Given the description of an element on the screen output the (x, y) to click on. 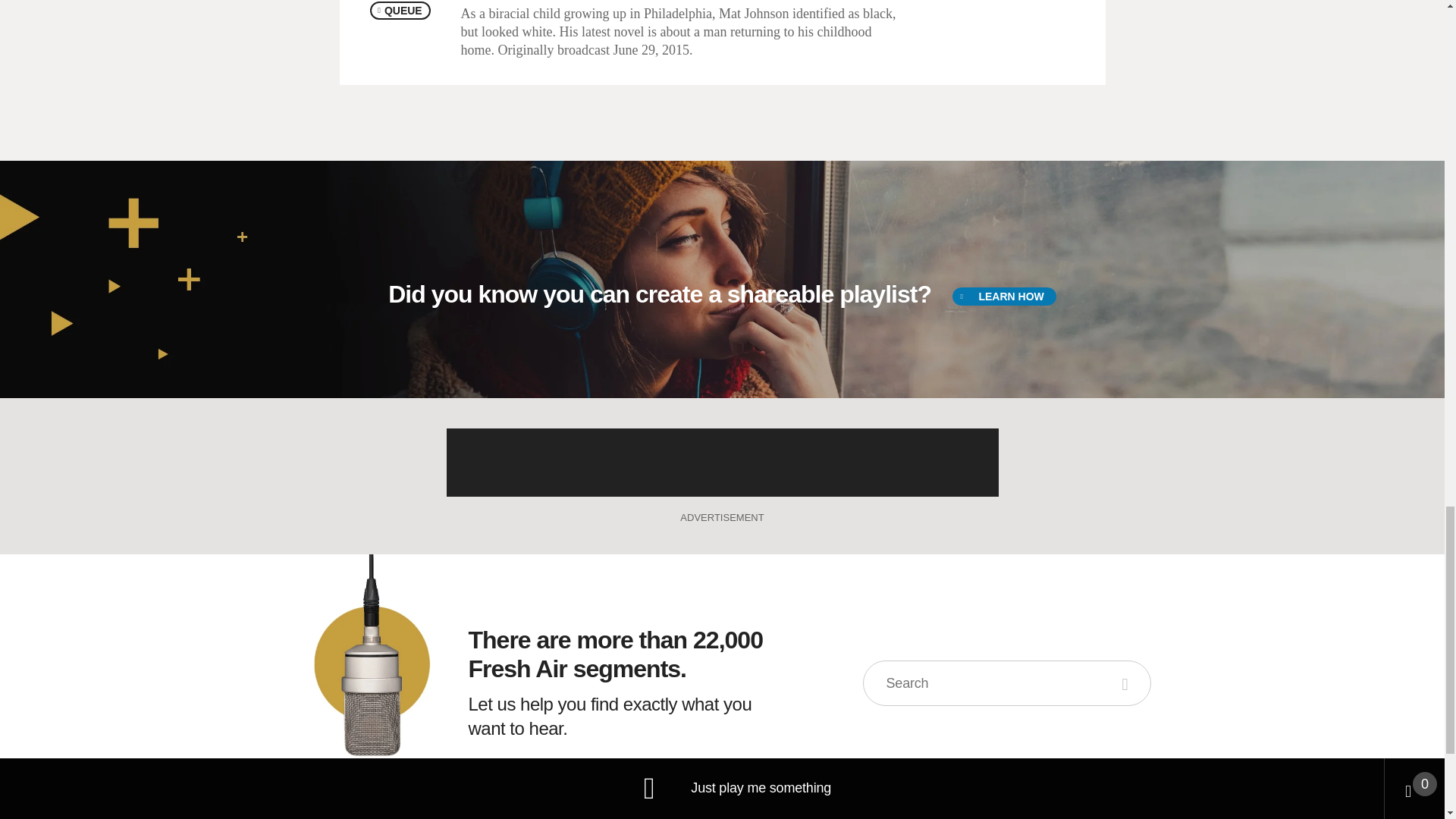
Search (1127, 682)
3rd party ad content (721, 462)
